Given the description of an element on the screen output the (x, y) to click on. 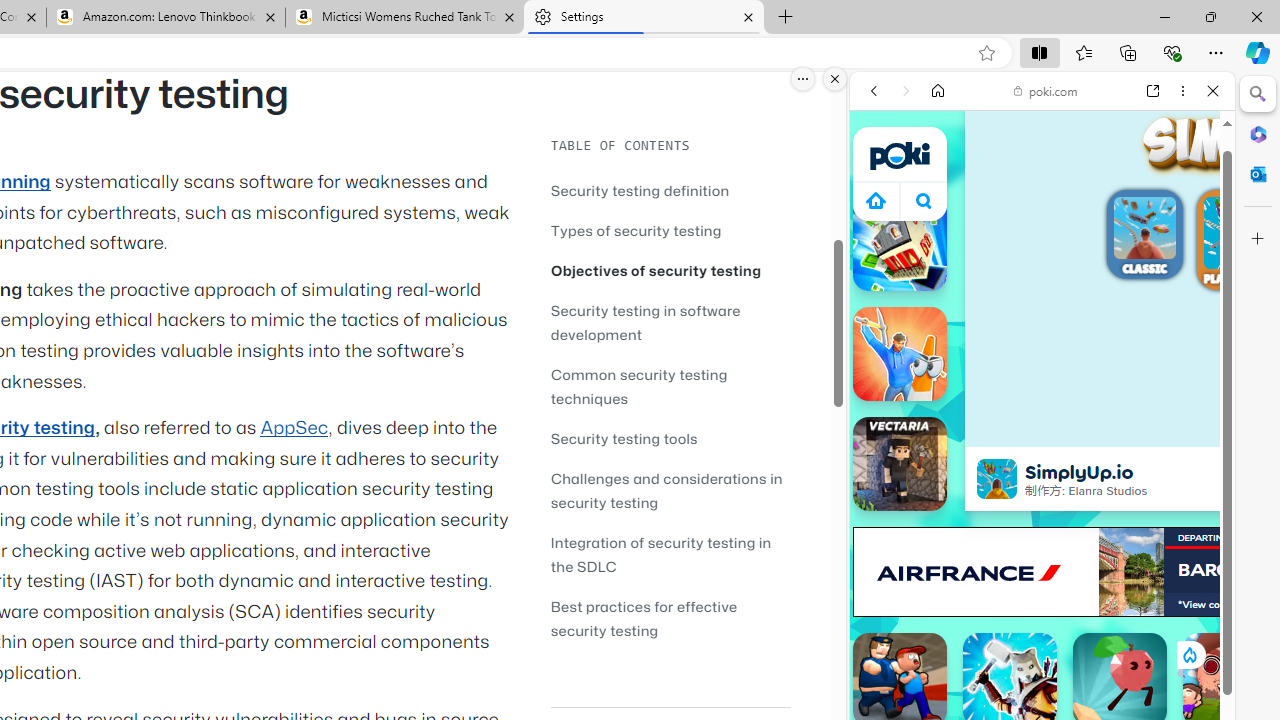
Simply Prop Hunt (899, 353)
Io Games (1042, 616)
PLAYGROUND (1240, 242)
Show More Car Games (1164, 472)
More options. (803, 79)
Common security testing techniques (639, 385)
Class: hvLtMSipvVng82x9Seuh (997, 478)
Class: aprWdaSScyiJf4Jvmsx9 (875, 200)
Search Filter, IMAGES (939, 228)
Shooting Games (1042, 519)
Preferences (1189, 228)
